Given the description of an element on the screen output the (x, y) to click on. 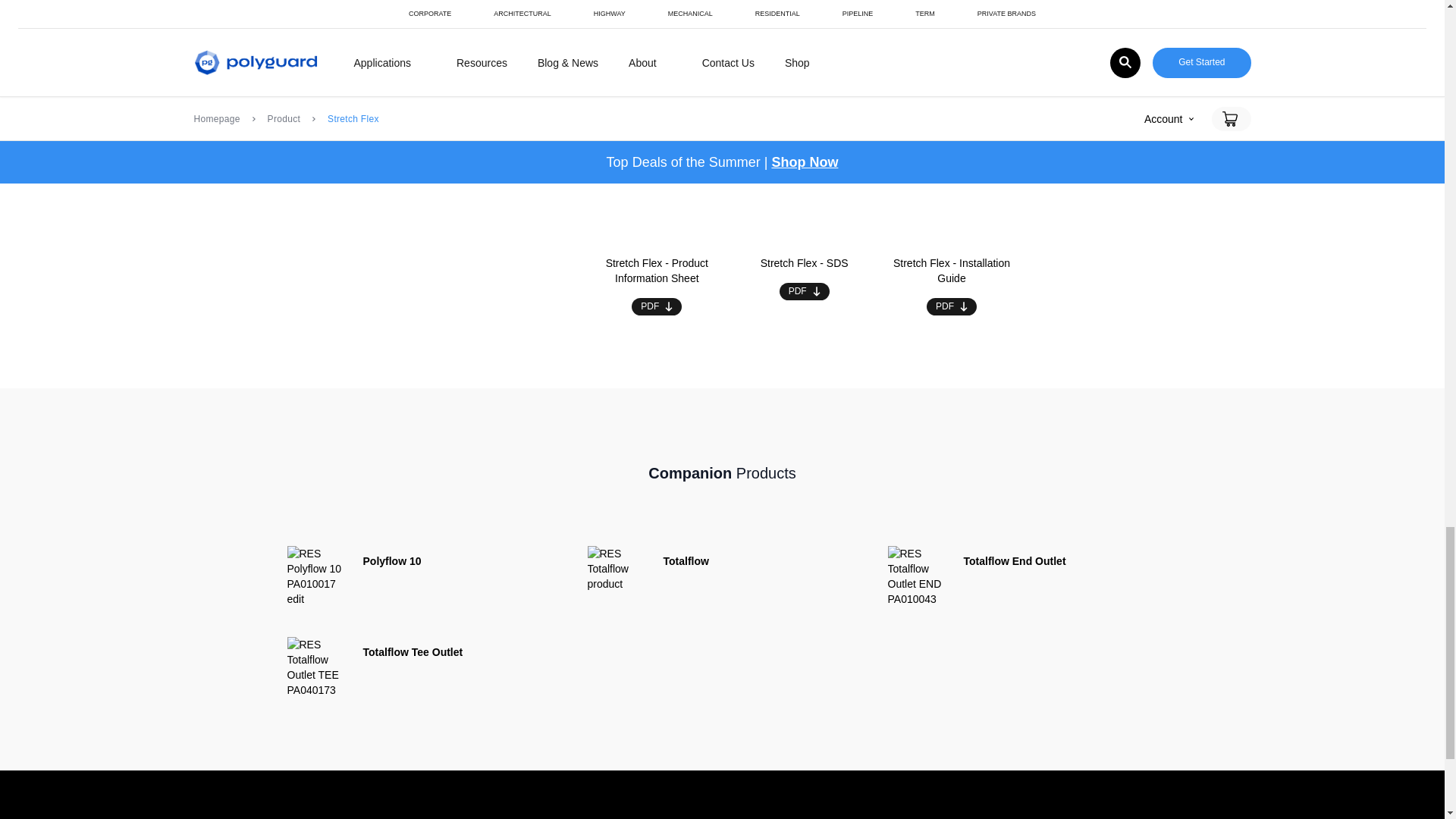
Download RES PIS Stretch Flex (656, 306)
Download RES Stretch Flex Installation (951, 306)
Download RES SDS Stretch flex 2 10 2023 (803, 291)
